Given the description of an element on the screen output the (x, y) to click on. 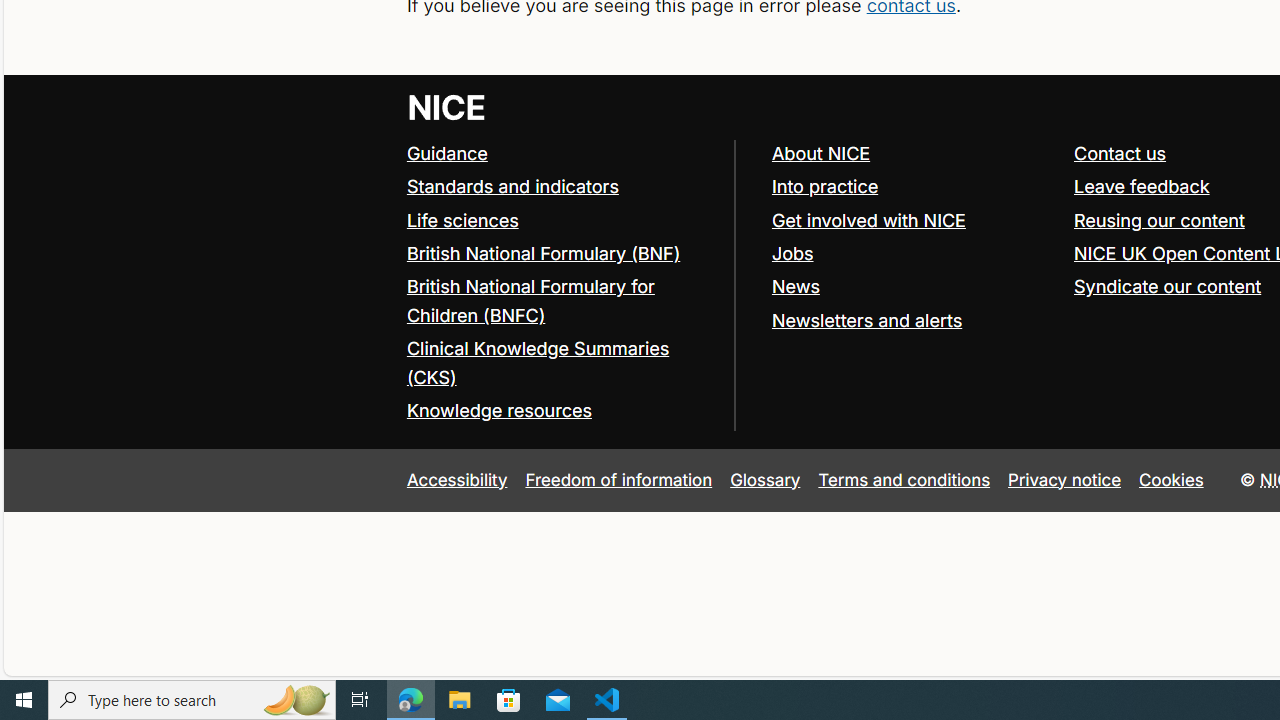
Contact us (1120, 152)
Accessibility (456, 479)
Into practice (824, 186)
Life sciences (560, 220)
Cookies (1171, 479)
Privacy notice (1065, 479)
About NICE (913, 153)
British National Formulary for Children (BNFC) (530, 300)
Jobs (792, 252)
Cookies (1171, 479)
Glossary (765, 479)
Life sciences (461, 219)
